Given the description of an element on the screen output the (x, y) to click on. 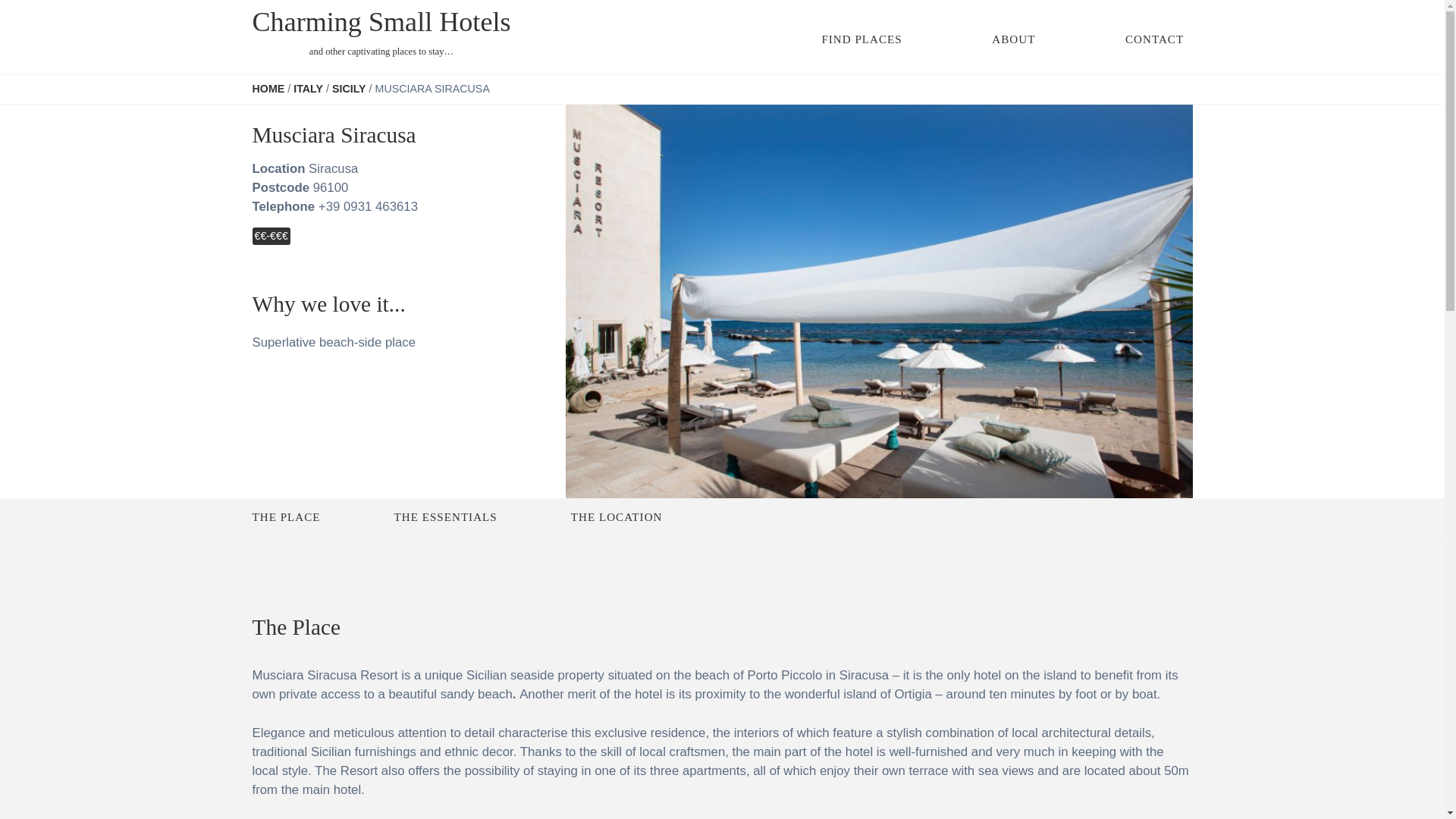
THE LOCATION (616, 516)
ITALY (308, 88)
THE PLACE (285, 516)
THE ESSENTIALS (445, 516)
HOME (267, 88)
ABOUT (1013, 39)
FIND PLACES (861, 39)
SICILY (348, 88)
CONTACT (1154, 39)
